Given the description of an element on the screen output the (x, y) to click on. 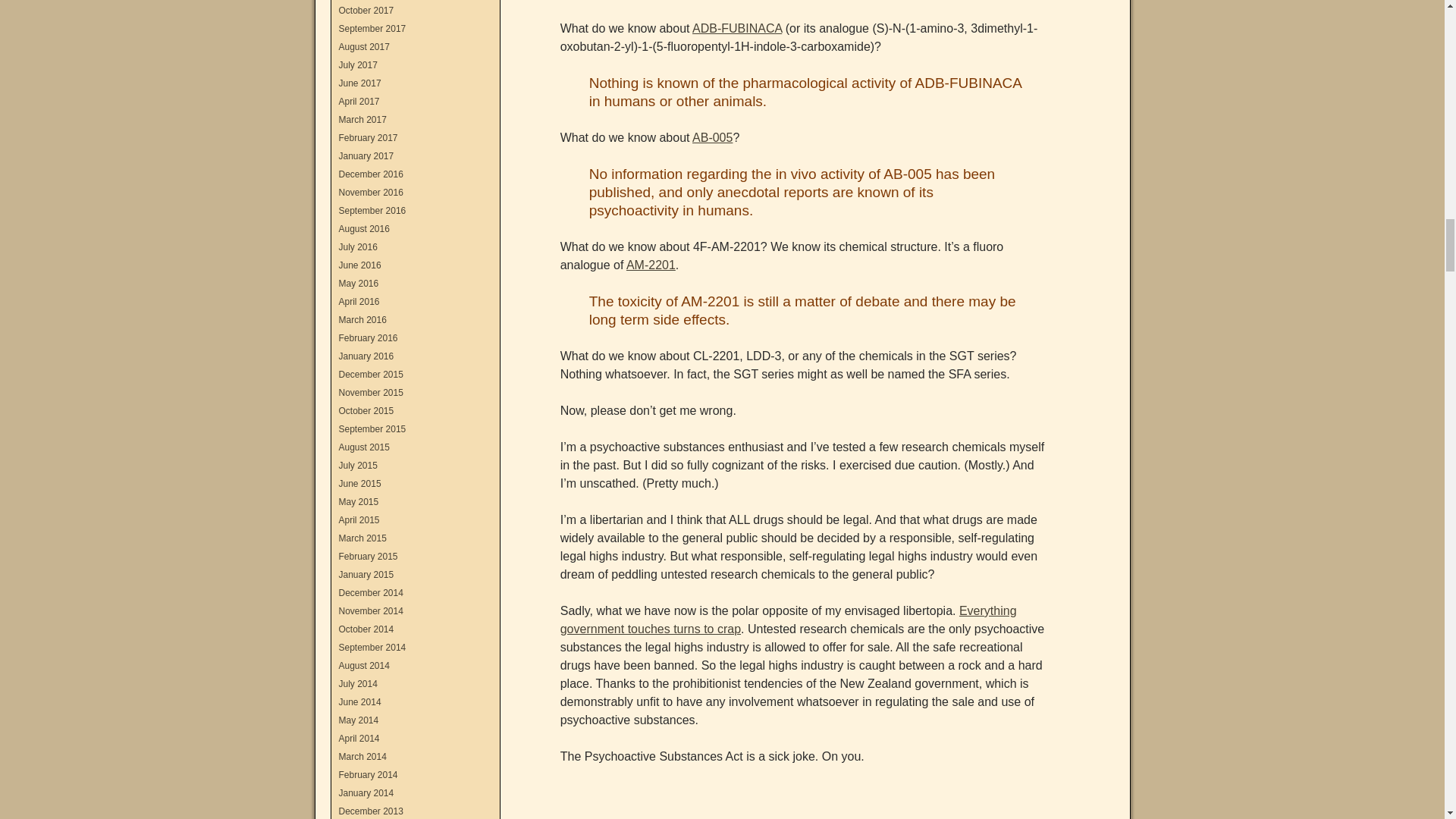
Everything government touches turns to crap (788, 619)
AM-2201 (650, 264)
AB-005 (712, 137)
ADB-FUBINACA (737, 28)
